Given the description of an element on the screen output the (x, y) to click on. 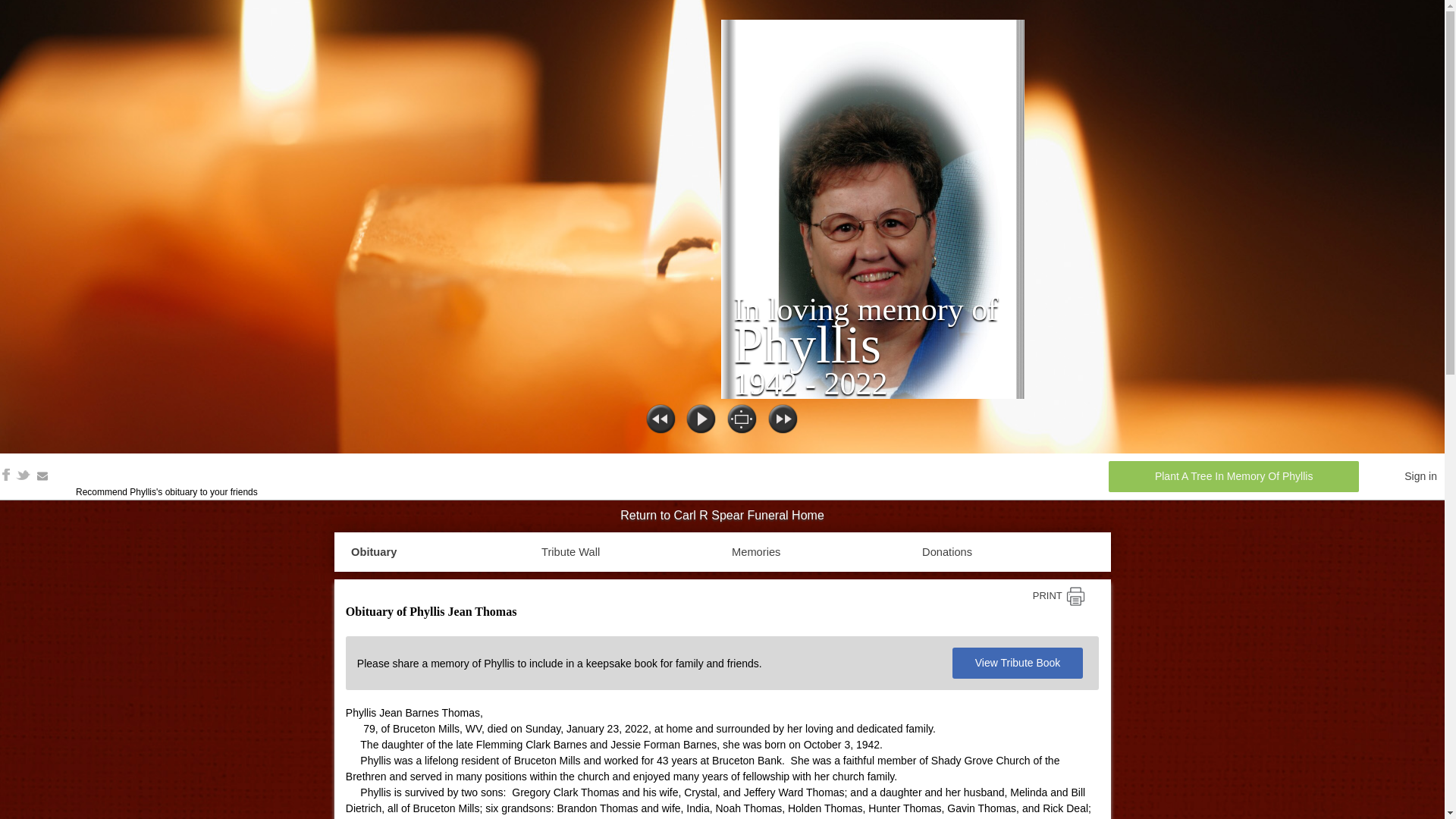
Donations (946, 551)
View Tribute Book (1017, 662)
Return to Carl R Spear Funeral Home (721, 515)
Memories (756, 551)
Sign in (1421, 476)
Obituary (373, 551)
Plant A Tree In Memory Of Phyllis (1233, 476)
Twitter (22, 474)
Print (1058, 596)
Facebook (5, 474)
PRINT (1058, 596)
Plant A Tree (1233, 476)
Receive Notifications (42, 475)
Tribute Wall (570, 551)
